Given the description of an element on the screen output the (x, y) to click on. 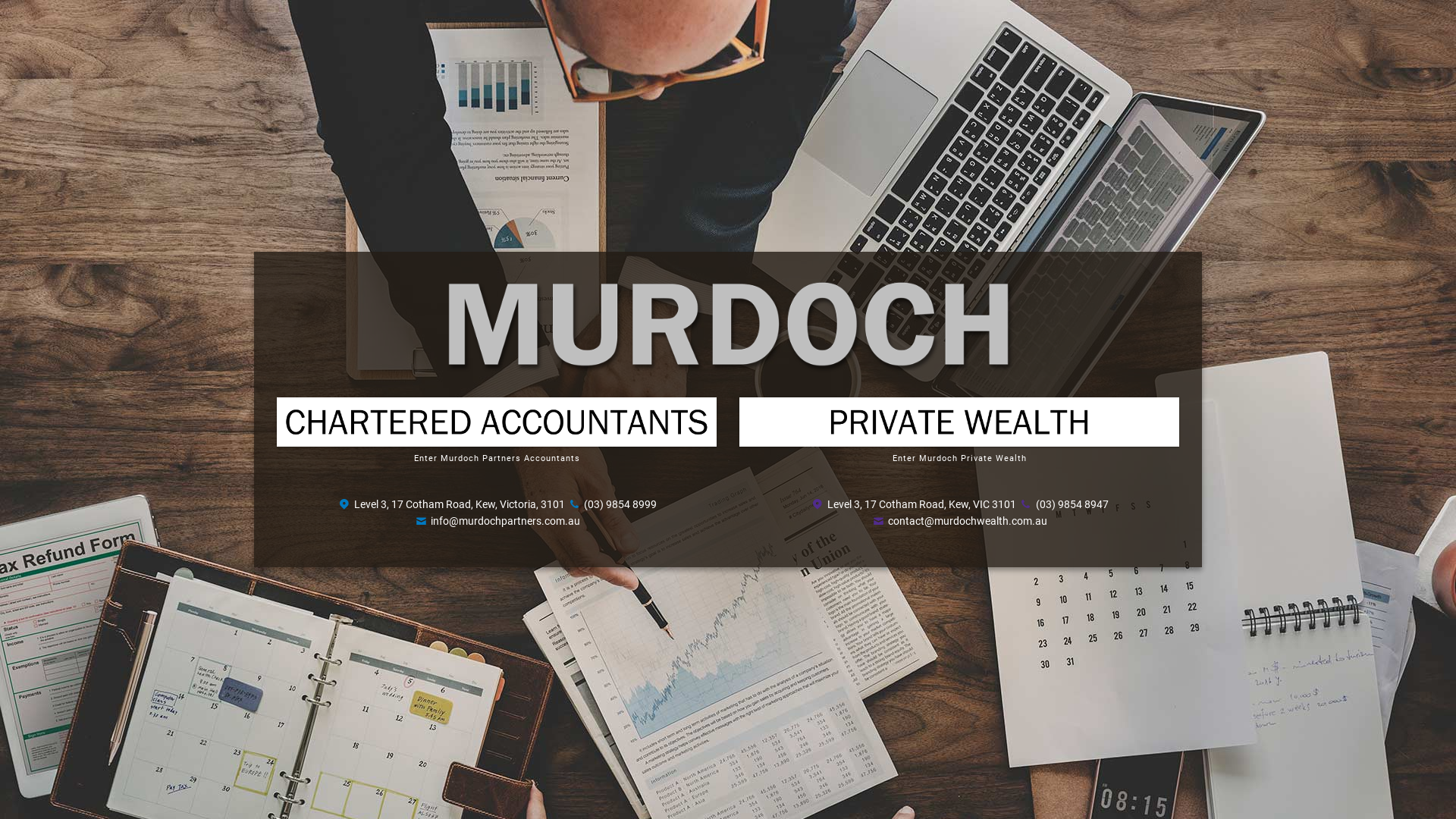
contact@murdochwealth.com.au Element type: text (967, 520)
(03) 9854 8999 Element type: text (619, 504)
Enter Murdoch Partners Accountants Element type: text (497, 458)
info@murdochpartners.com.au Element type: text (505, 520)
Enter Murdoch Private Wealth Element type: text (958, 458)
(03) 9854 8947 Element type: text (1071, 504)
